Given the description of an element on the screen output the (x, y) to click on. 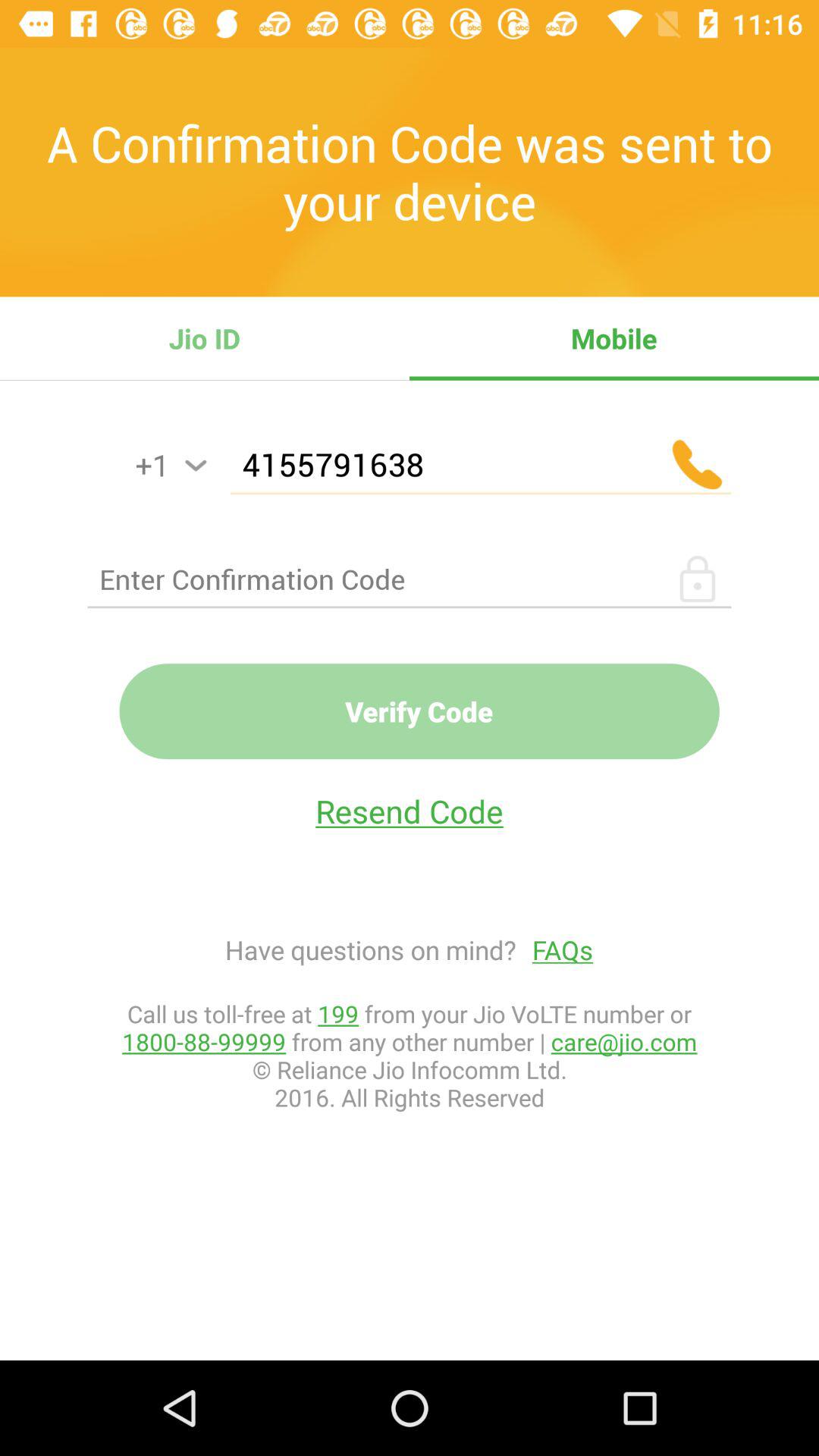
tap the item next to the have questions on icon (554, 949)
